Given the description of an element on the screen output the (x, y) to click on. 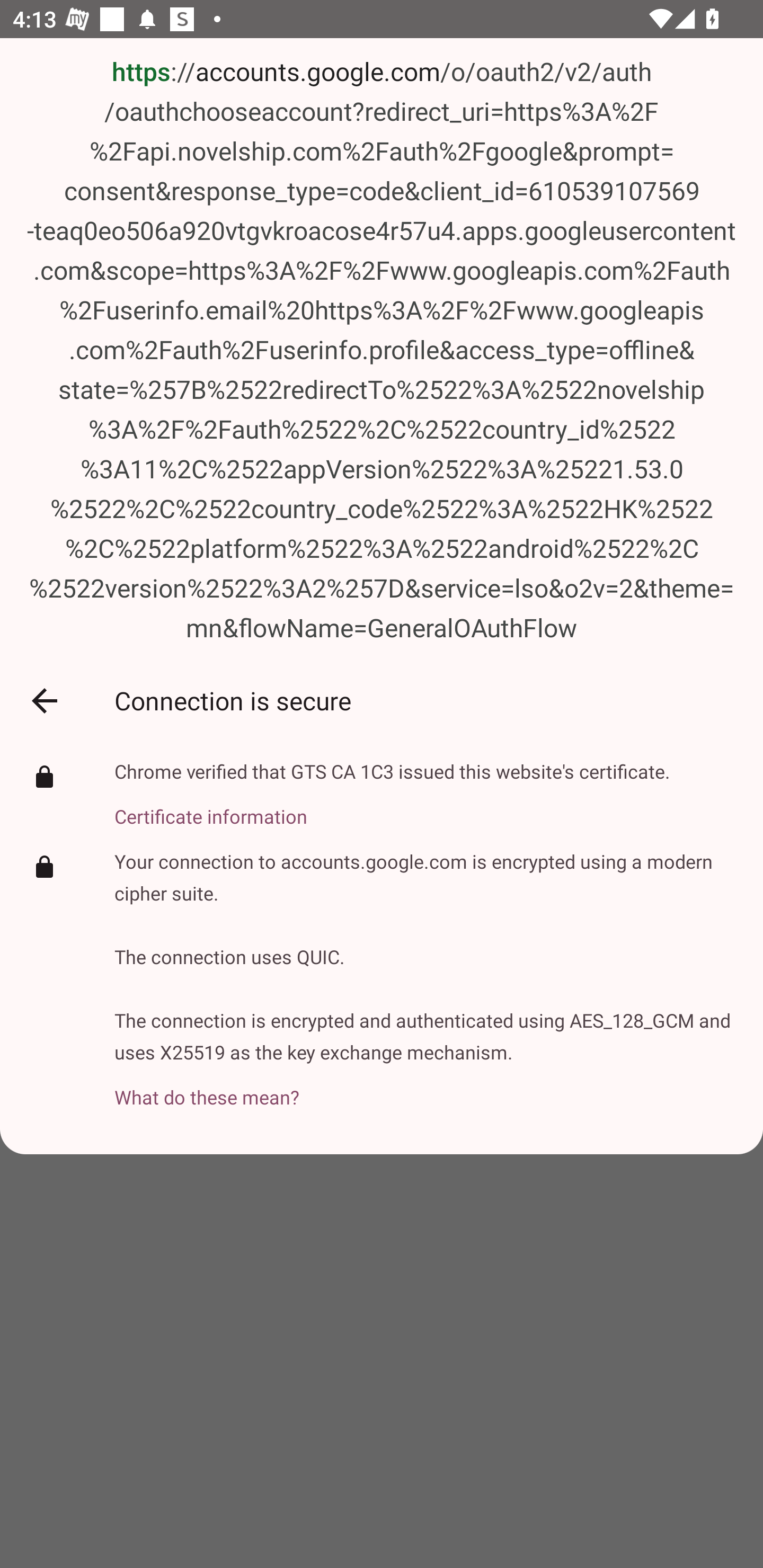
Back (44, 700)
Certificate information (392, 806)
What do these mean? (425, 1087)
